Given the description of an element on the screen output the (x, y) to click on. 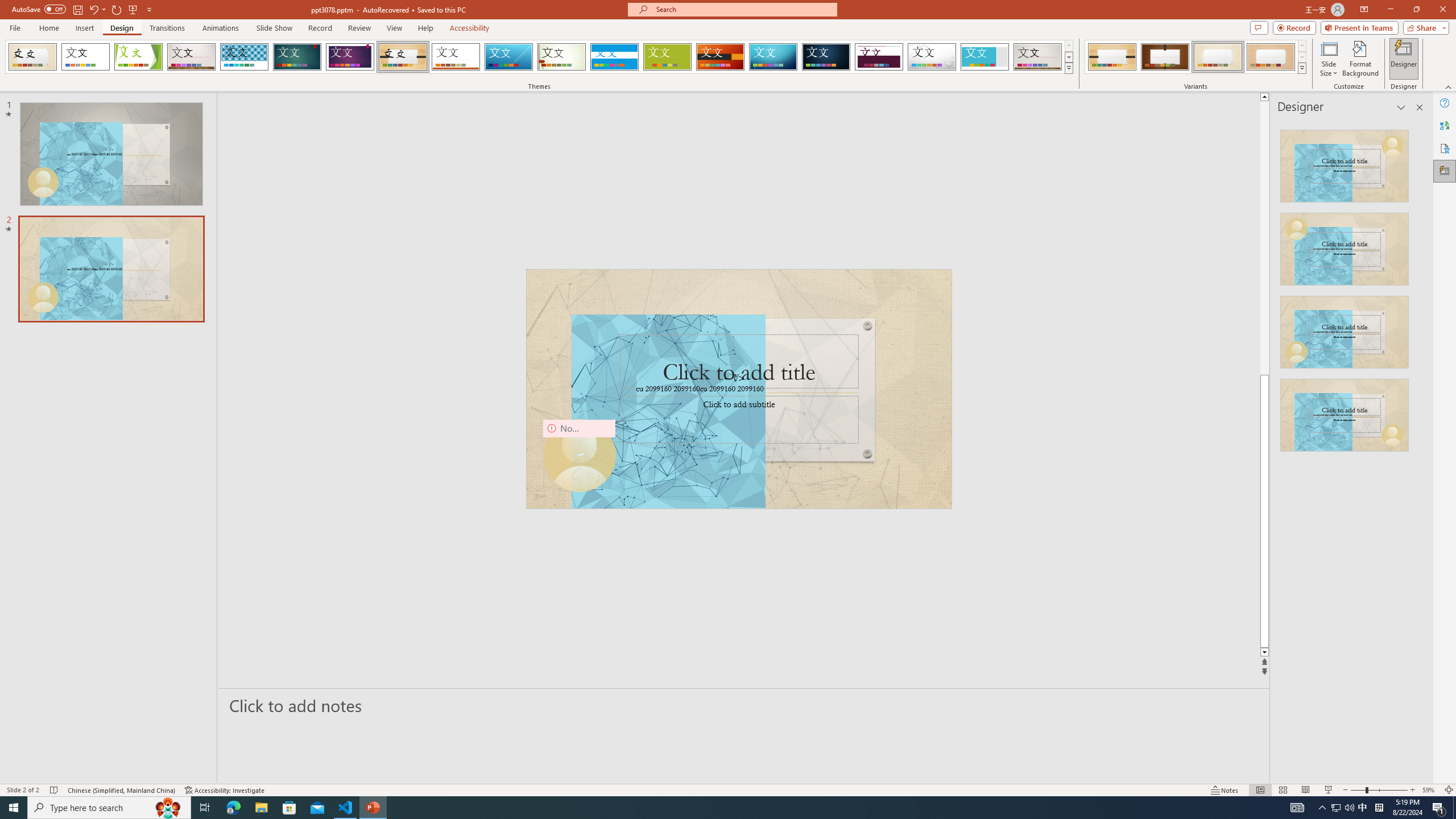
Integral (244, 56)
Damask (826, 56)
Berlin (720, 56)
